Given the description of an element on the screen output the (x, y) to click on. 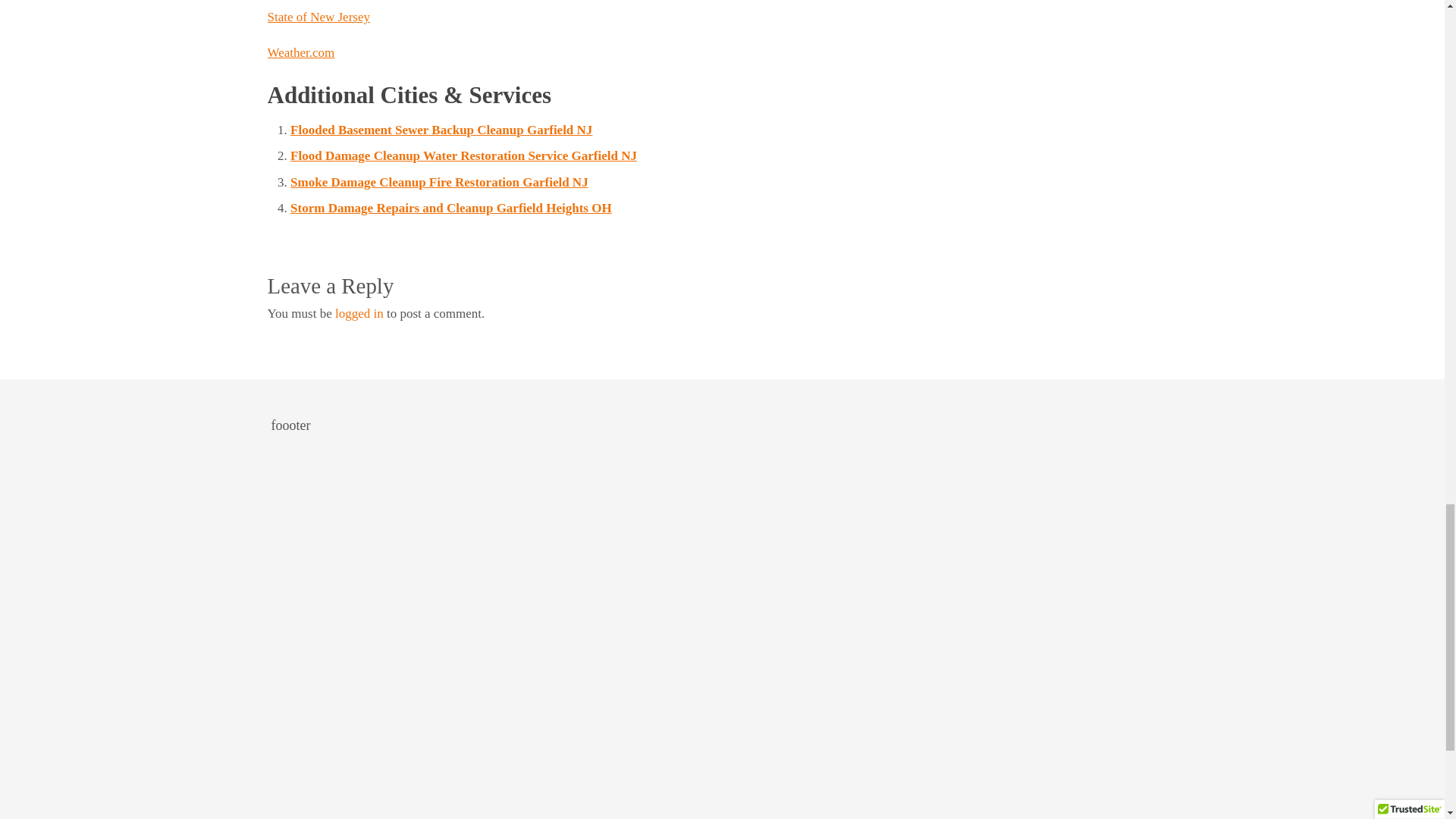
Smoke Damage Cleanup Fire Restoration Garfield NJ (438, 182)
Flooded Basement Sewer Backup Cleanup Garfield NJ (440, 129)
Flood Damage Cleanup Water Restoration Service Garfield NJ (463, 155)
Storm Damage Repairs and Cleanup Garfield Heights OH (450, 207)
Flooded Basement Sewer Backup Cleanup Garfield NJ (440, 129)
Storm Damage Repairs and Cleanup Garfield Heights OH (450, 207)
Flood Damage Cleanup Water Restoration Service Garfield NJ (463, 155)
State of New Jersey (317, 16)
Smoke Damage Cleanup Fire Restoration Garfield NJ (438, 182)
logged in (359, 313)
Weather.com (300, 52)
